Given the description of an element on the screen output the (x, y) to click on. 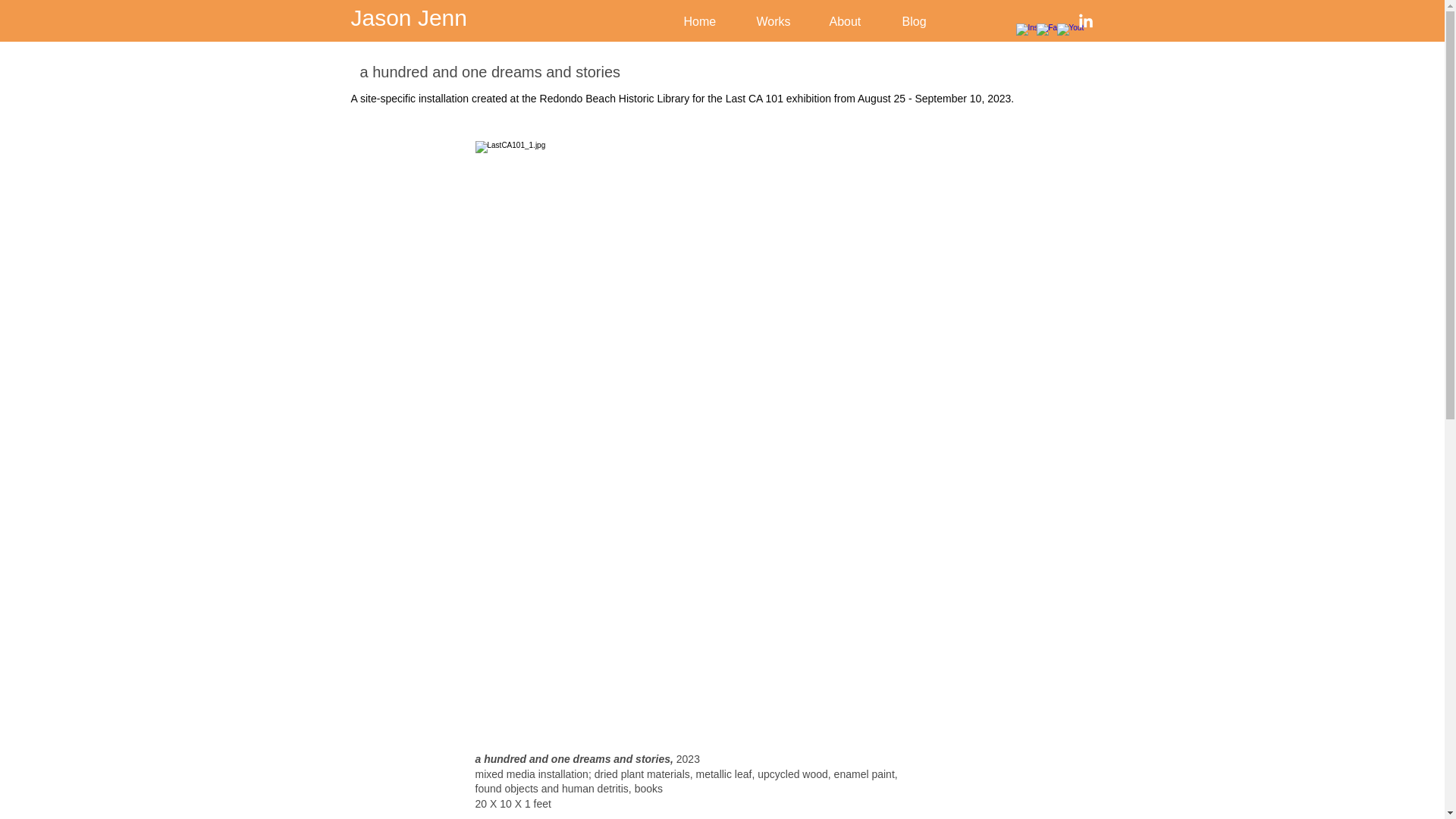
Blog (922, 22)
Home (707, 22)
Jason Jenn (407, 17)
